Given the description of an element on the screen output the (x, y) to click on. 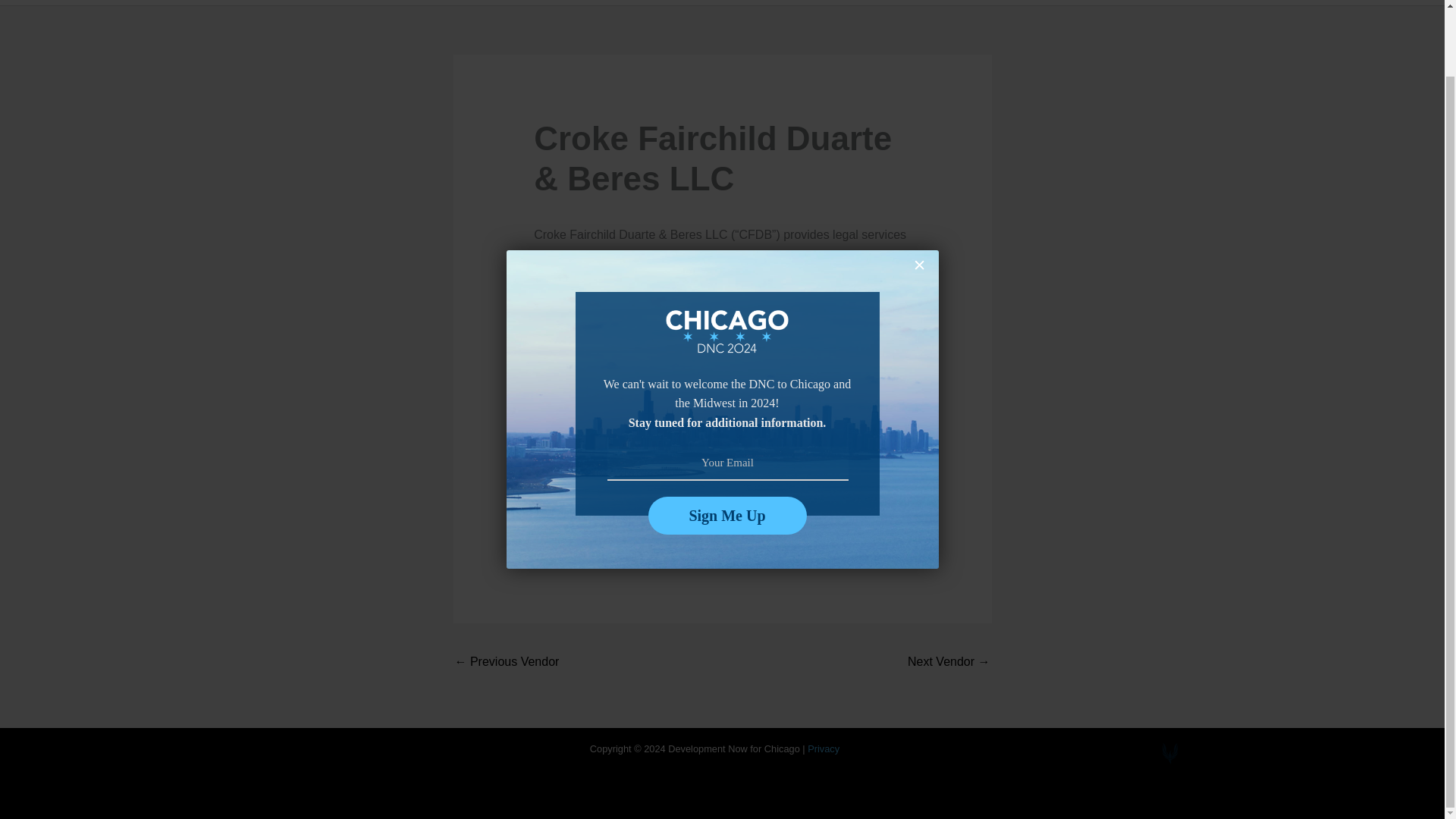
Typic Woods (506, 663)
The Golden Connect (948, 663)
